Given the description of an element on the screen output the (x, y) to click on. 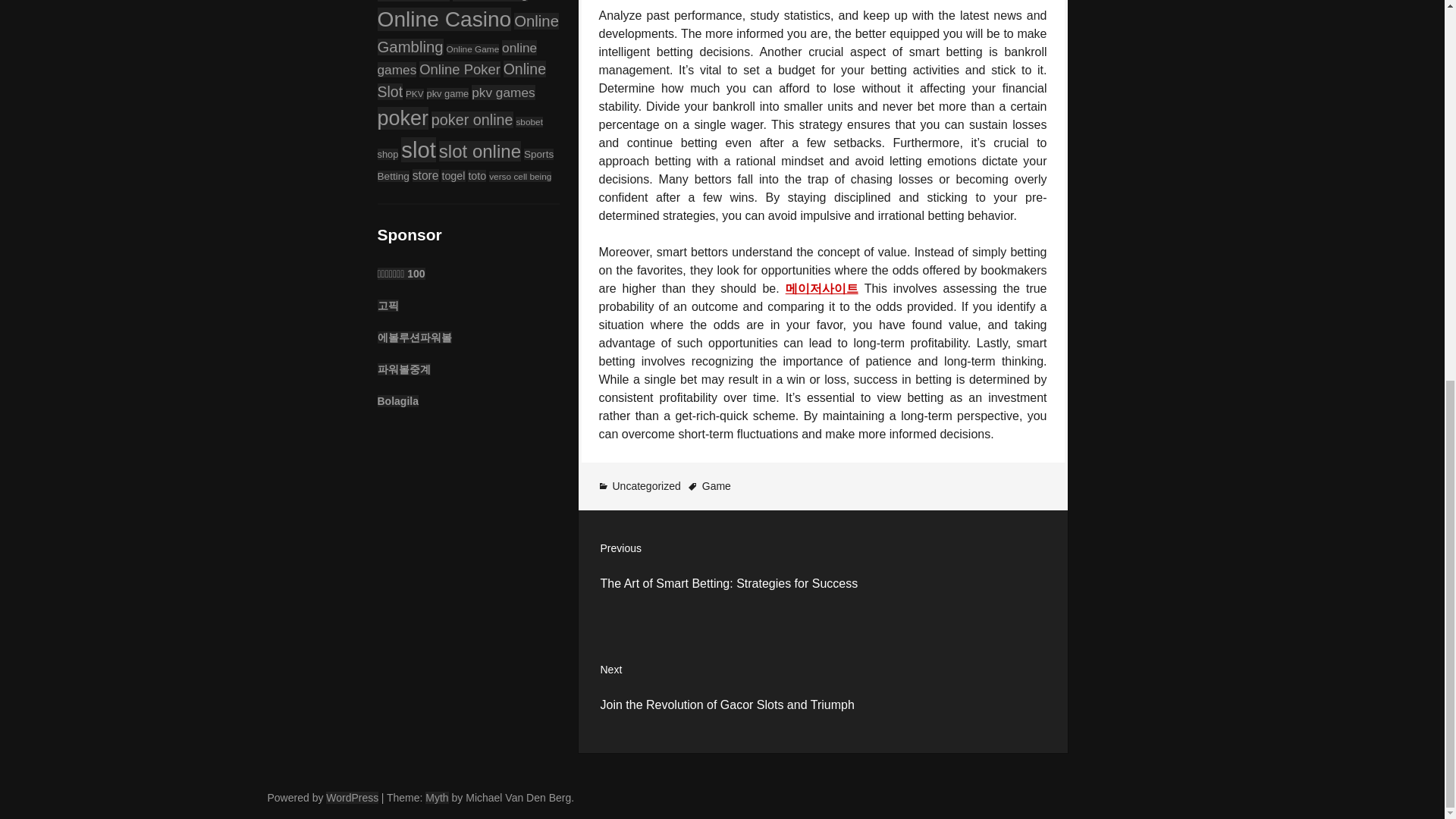
Uncategorized (646, 485)
Game (715, 485)
